Given the description of an element on the screen output the (x, y) to click on. 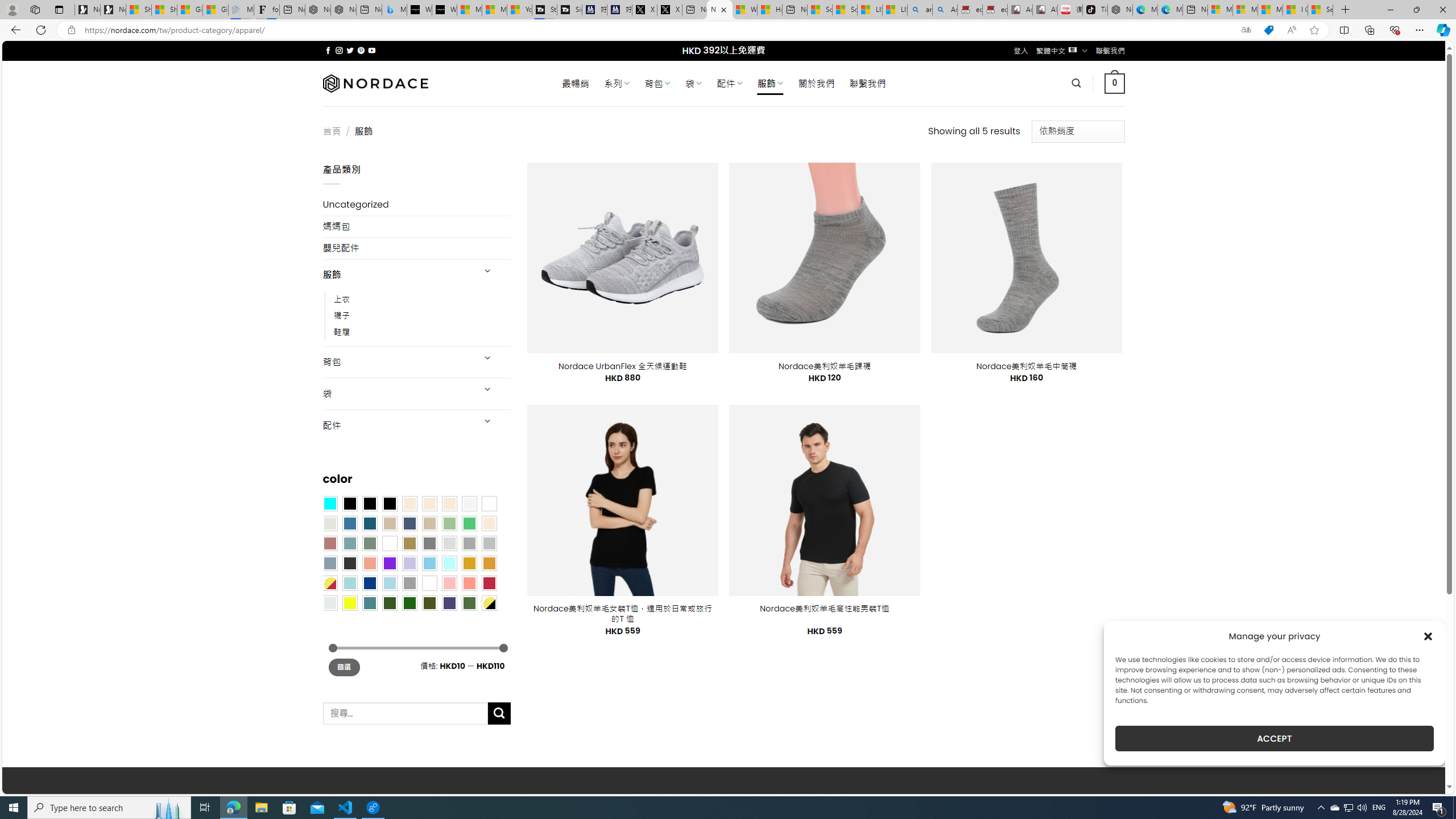
Class: cmplz-close (1428, 636)
Follow on YouTube (371, 50)
Dull Nickle (329, 602)
